Given the description of an element on the screen output the (x, y) to click on. 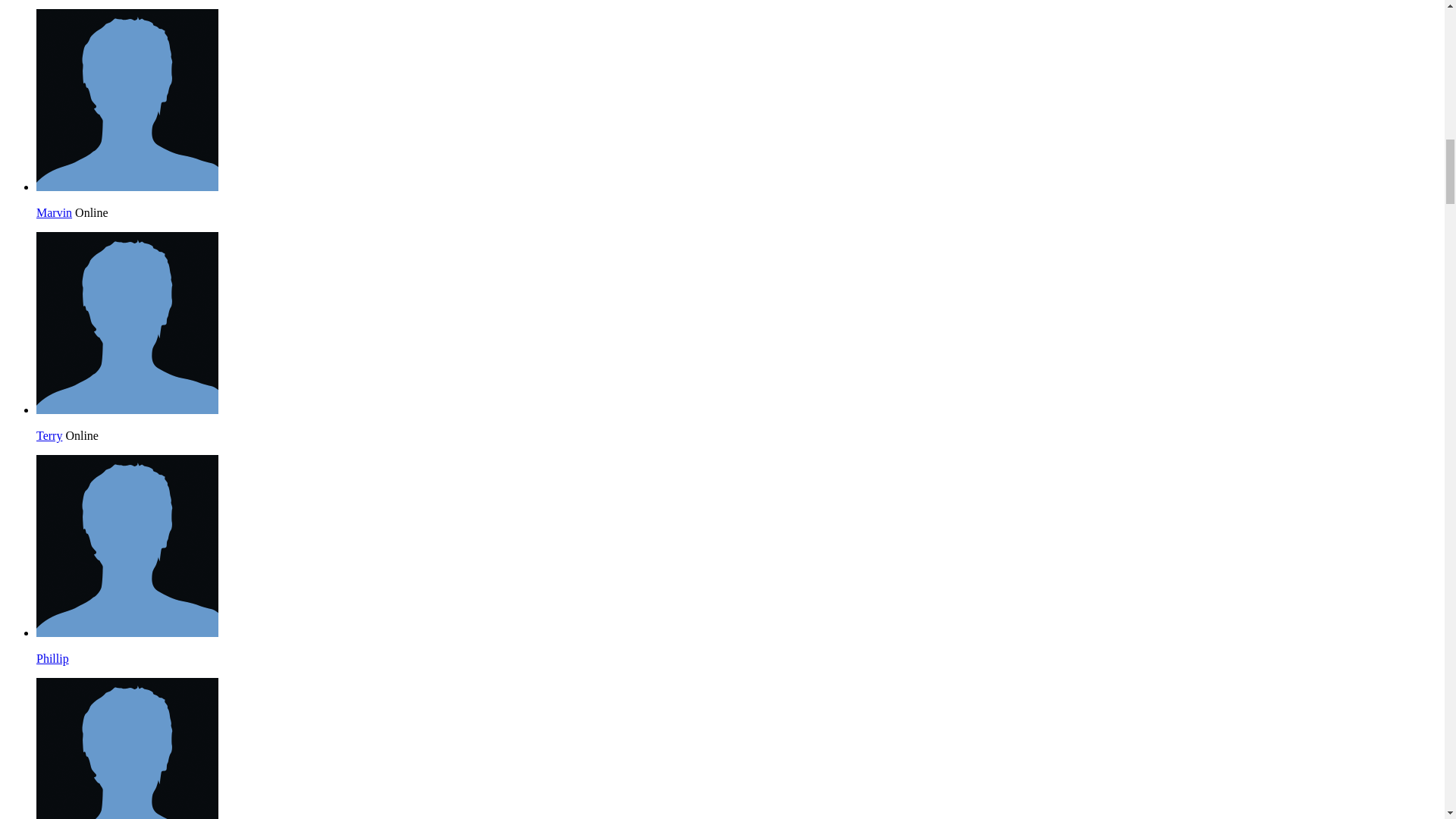
Terry (49, 435)
Marvin (127, 186)
Phillip (127, 632)
Marvin (53, 212)
Phillip (52, 658)
Terry (127, 409)
